Given the description of an element on the screen output the (x, y) to click on. 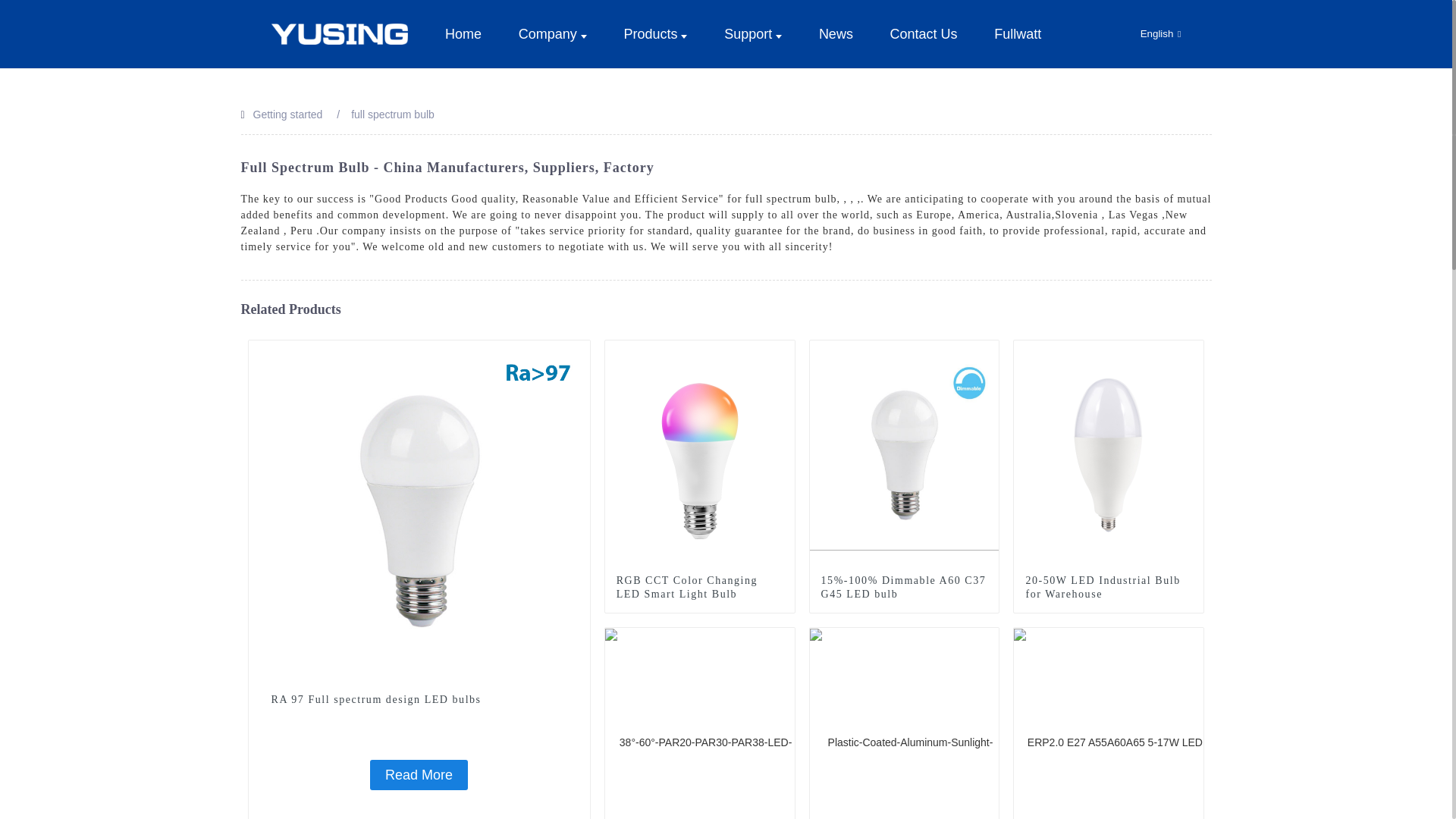
RA 97 Full spectrum design LED bulbs (418, 699)
Home (463, 33)
Support (752, 33)
20-50W LED Industrial Bulb for Warehouse (1108, 453)
Company (552, 33)
20-50W LED Industrial Bulb for Warehouse (1108, 587)
RA 97 Full spectrum design LED bulbs (418, 775)
Fullwatt (1017, 33)
Contact Us (923, 33)
Products (654, 33)
